Given the description of an element on the screen output the (x, y) to click on. 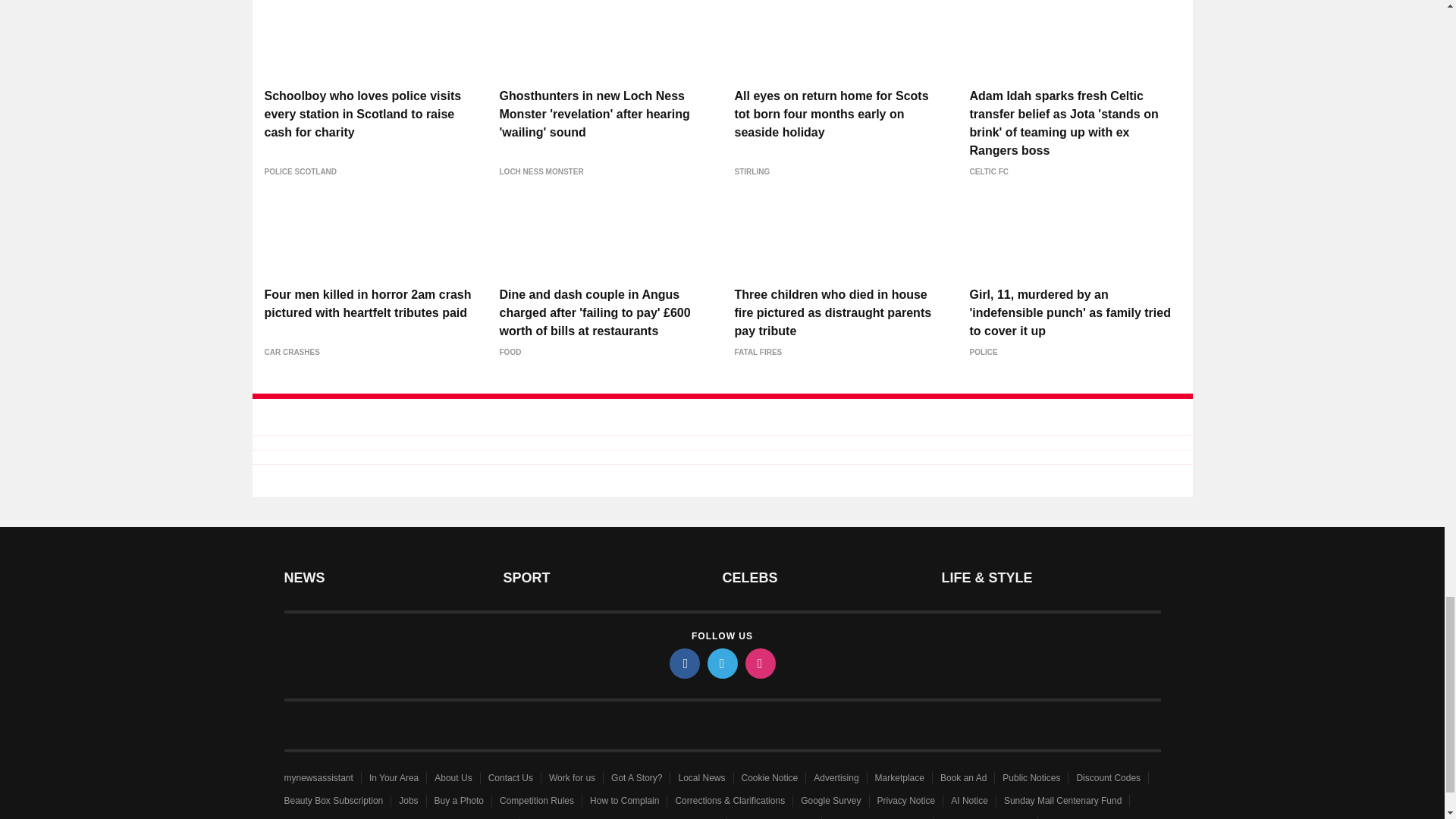
facebook (683, 663)
twitter (721, 663)
instagram (759, 663)
